Given the description of an element on the screen output the (x, y) to click on. 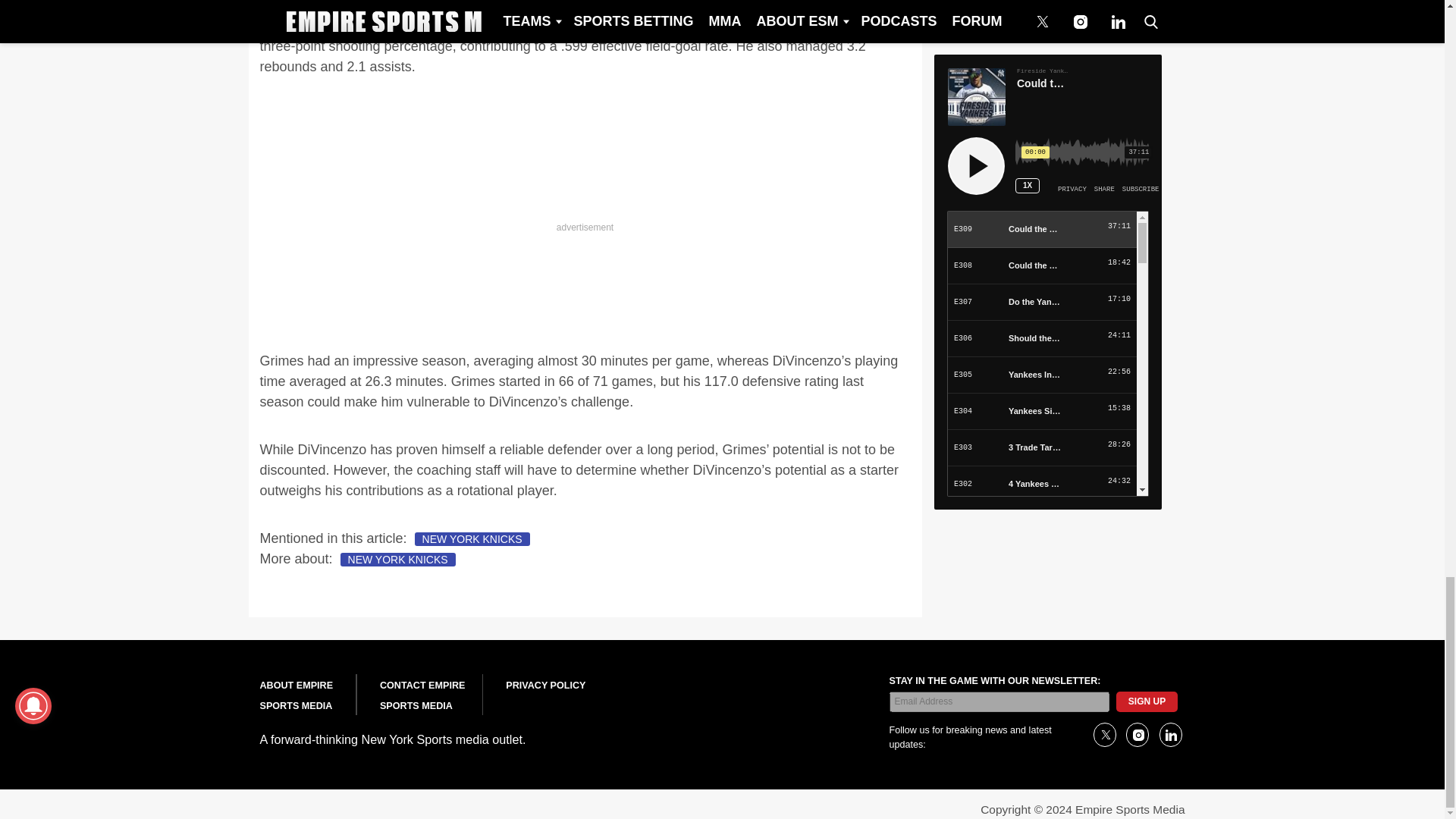
ABOUT EMPIRE SPORTS MEDIA (296, 695)
NEW YORK KNICKS (471, 539)
NEW YORK KNICKS (397, 559)
